Given the description of an element on the screen output the (x, y) to click on. 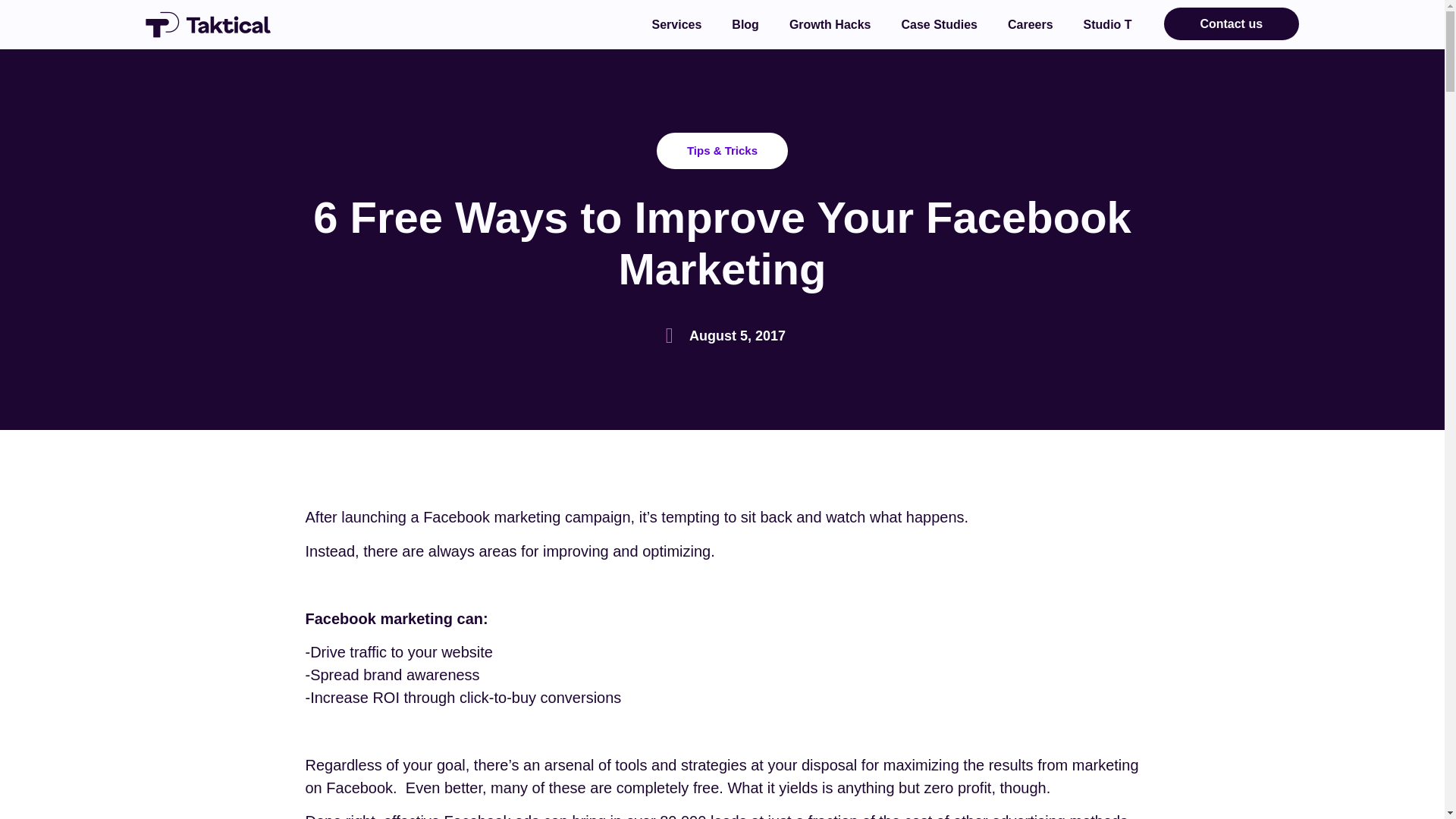
Case Studies (938, 24)
Studio T (1107, 24)
Blog (745, 24)
Growth Hacks (830, 24)
80,000 leads (702, 816)
Services (677, 24)
Careers (1030, 24)
Contact us (1230, 23)
August 5, 2017 (722, 335)
